Given the description of an element on the screen output the (x, y) to click on. 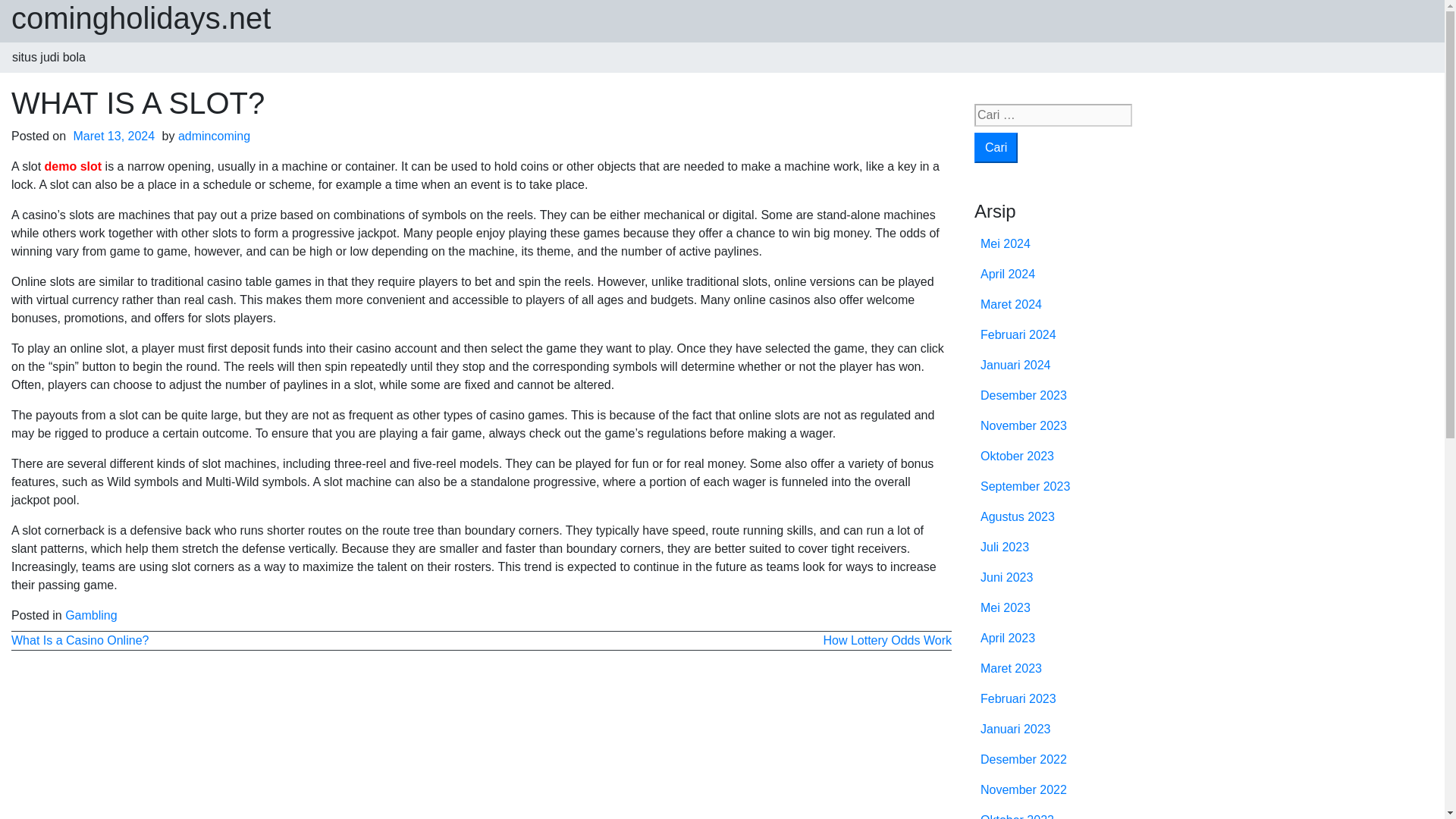
Februari 2023 (1018, 698)
Gambling (90, 615)
Juni 2023 (1005, 576)
Maret 2024 (1010, 304)
demo slot (73, 165)
Mei 2024 (1004, 243)
November 2023 (1023, 425)
Januari 2023 (1015, 728)
November 2022 (1023, 789)
What Is a Casino Online? (79, 640)
